Given the description of an element on the screen output the (x, y) to click on. 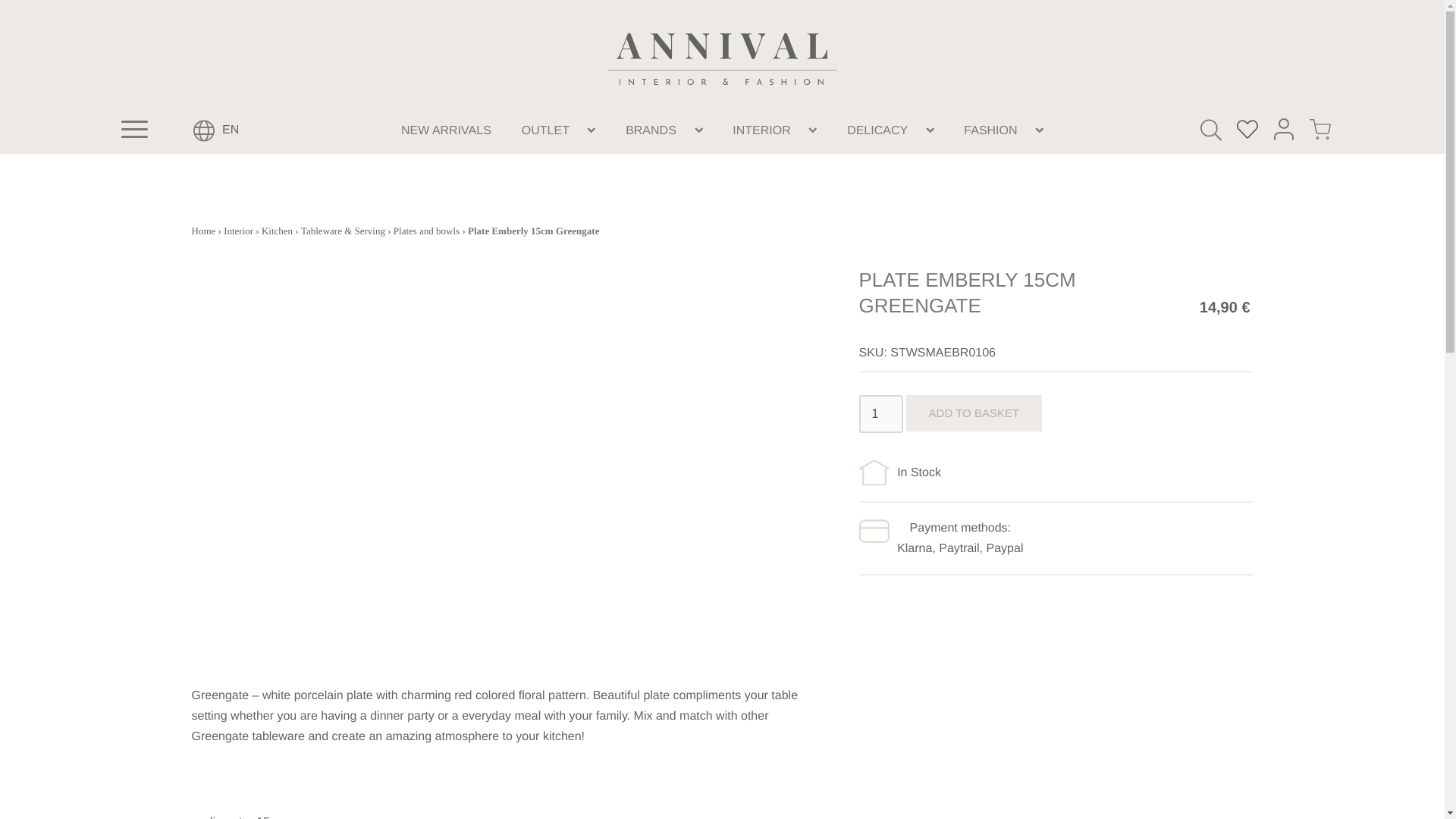
NEW ARRIVALS (446, 129)
OUTLET (546, 129)
1 (880, 413)
